Given the description of an element on the screen output the (x, y) to click on. 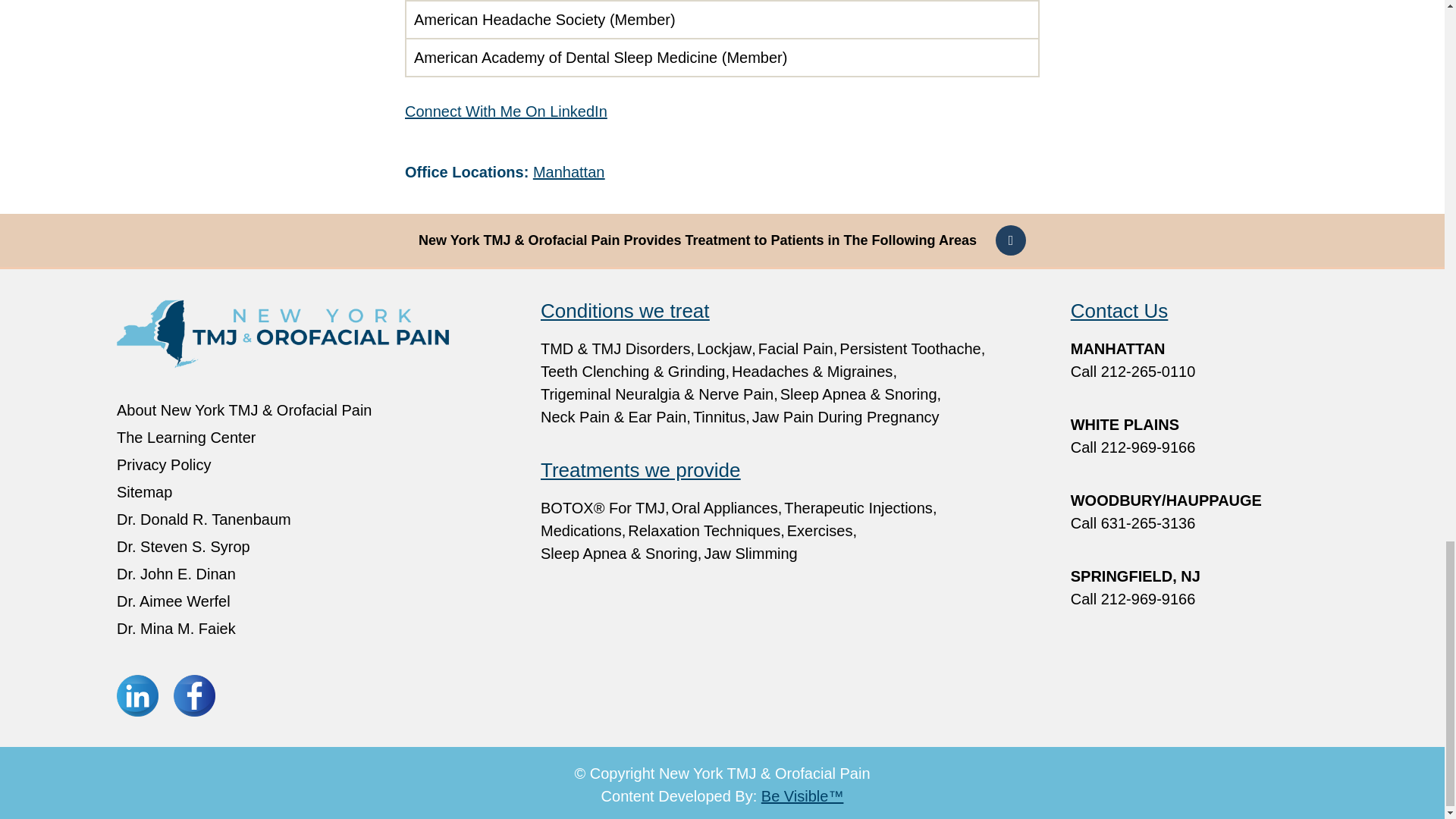
Linkedin (137, 695)
MANHATTAN (1198, 360)
SPRINGFIELD, NJ (1198, 587)
WHITE PLAINS (1198, 435)
Facebook (194, 695)
Instagram (251, 695)
